Given the description of an element on the screen output the (x, y) to click on. 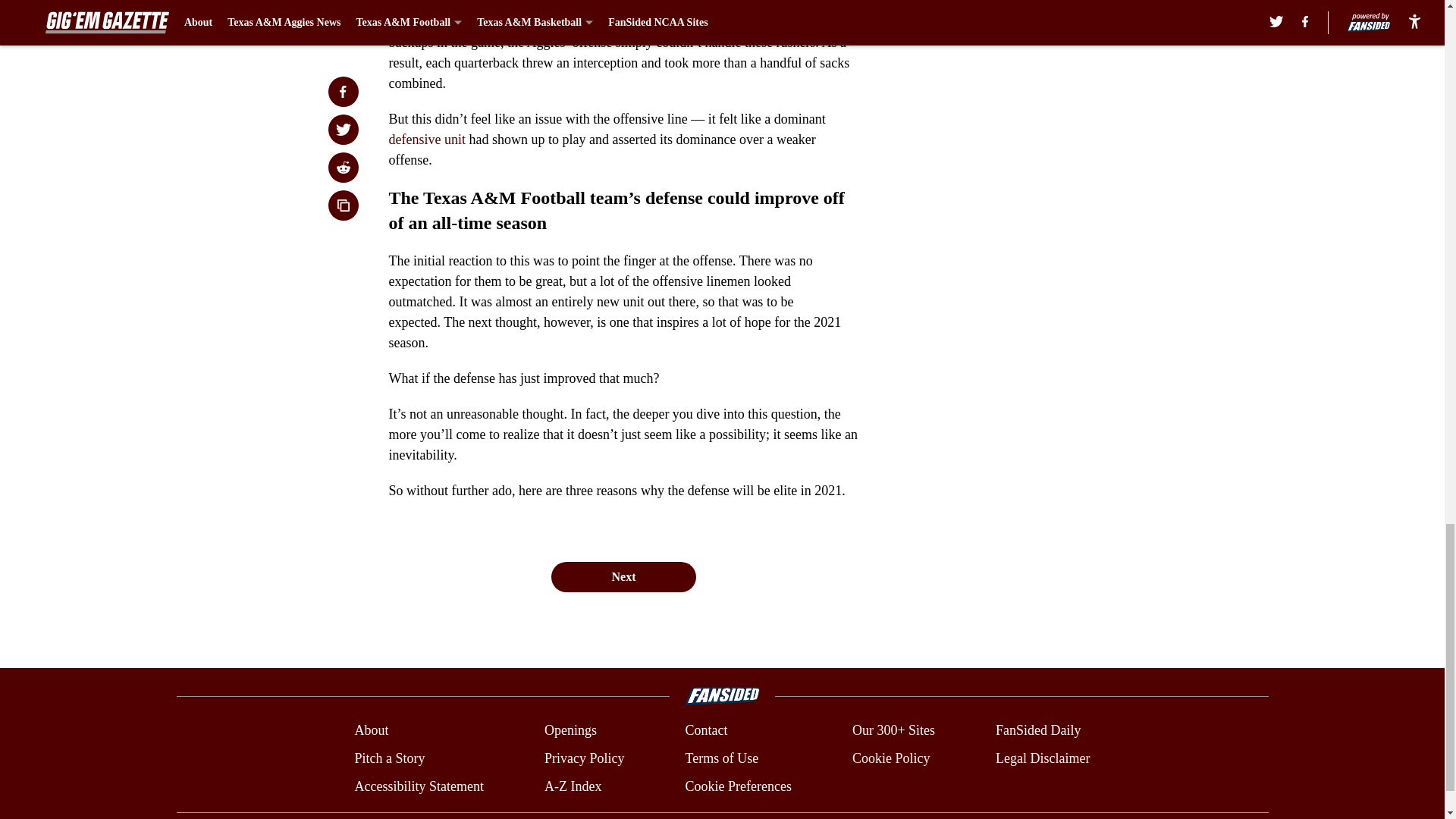
Contact (705, 730)
FanSided Daily (1038, 730)
Terms of Use (721, 758)
Pitch a Story (389, 758)
Next (622, 576)
About (370, 730)
Privacy Policy (584, 758)
defensive unit (426, 139)
Openings (570, 730)
